Given the description of an element on the screen output the (x, y) to click on. 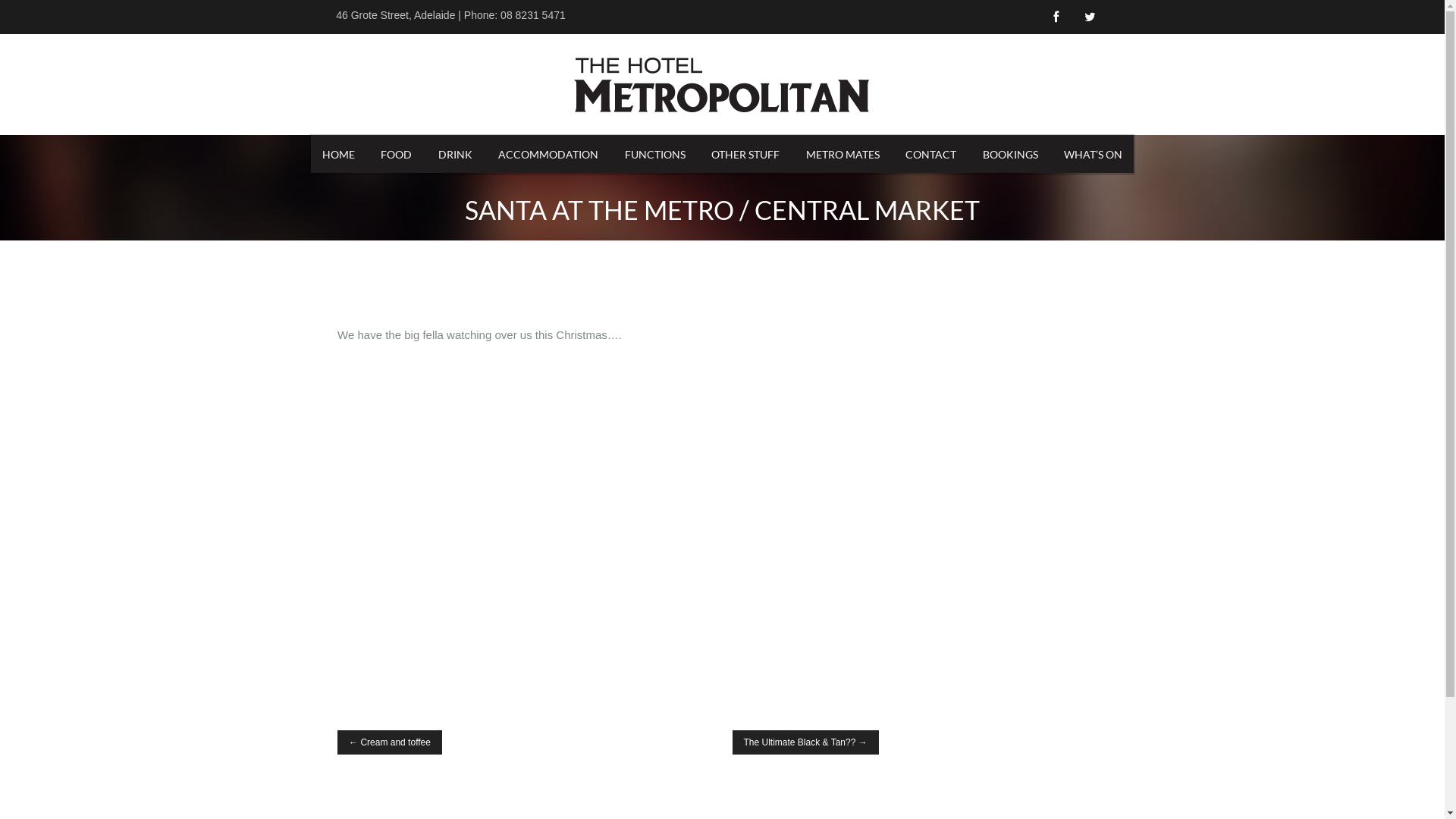
Hotel Metro Element type: hover (721, 83)
FUNCTIONS Element type: text (654, 153)
BOOKINGS Element type: text (1010, 153)
ACCOMMODATION Element type: text (547, 153)
METRO MATES Element type: text (842, 153)
DRINK Element type: text (454, 153)
OTHER STUFF Element type: text (744, 153)
CONTACT Element type: text (930, 153)
HOME Element type: text (338, 153)
FOOD Element type: text (396, 153)
